Given the description of an element on the screen output the (x, y) to click on. 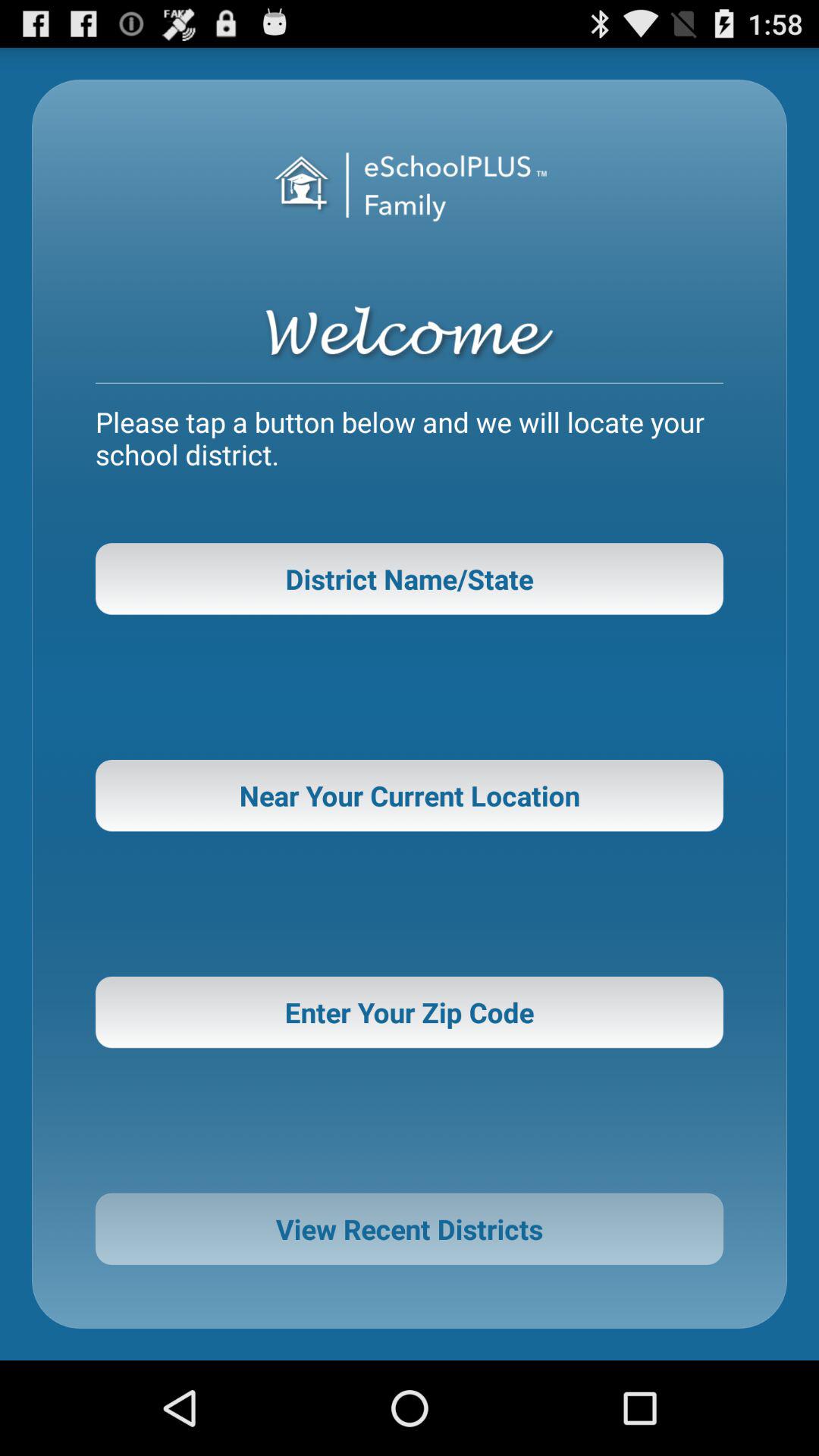
select view recent districts icon (409, 1228)
